Given the description of an element on the screen output the (x, y) to click on. 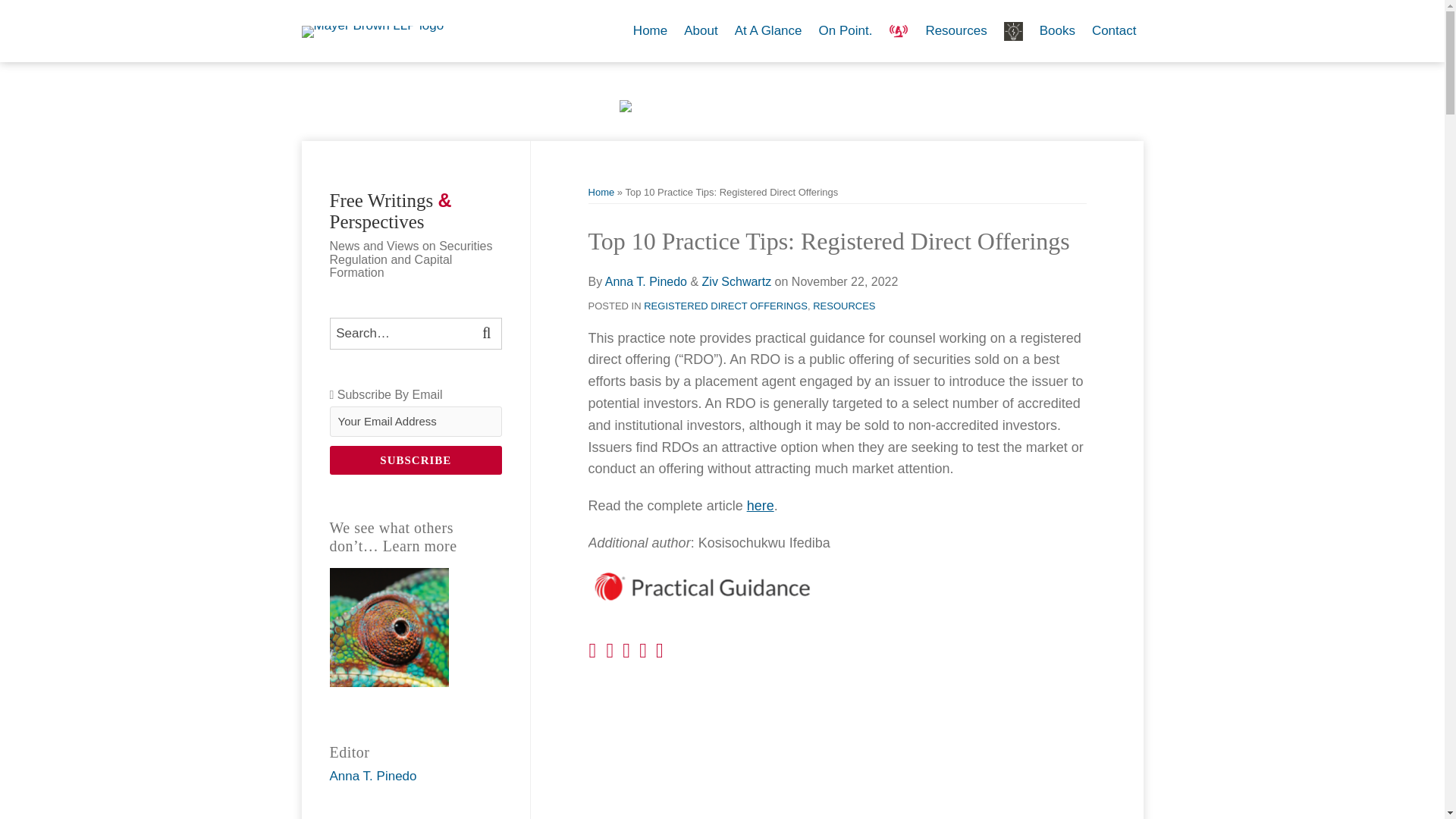
Home (649, 31)
Subscribe (415, 460)
Anna T. Pinedo (372, 775)
Anna T. Pinedo (646, 281)
here (760, 505)
On Point. (845, 31)
Ziv Schwartz (736, 281)
At A Glance (768, 31)
About (700, 31)
Resources (955, 31)
